Given the description of an element on the screen output the (x, y) to click on. 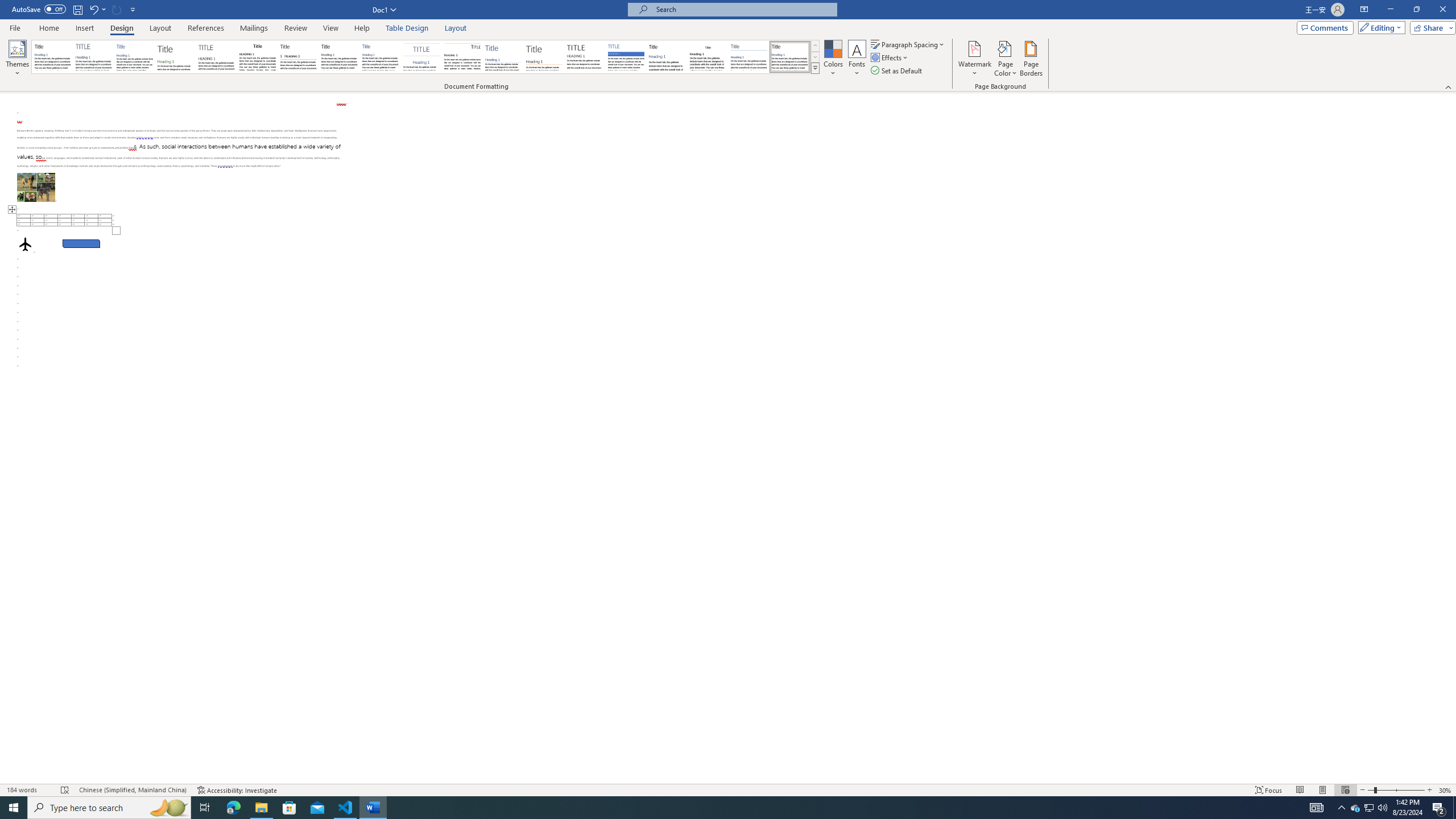
Watermark (974, 58)
Lines (Stylish) (544, 56)
Can't Repeat (117, 9)
AutomationID: QuickStylesSets (425, 56)
Set as Default (897, 69)
Word (666, 56)
Document (52, 56)
Basic (Simple) (135, 56)
Centered (421, 56)
